Given the description of an element on the screen output the (x, y) to click on. 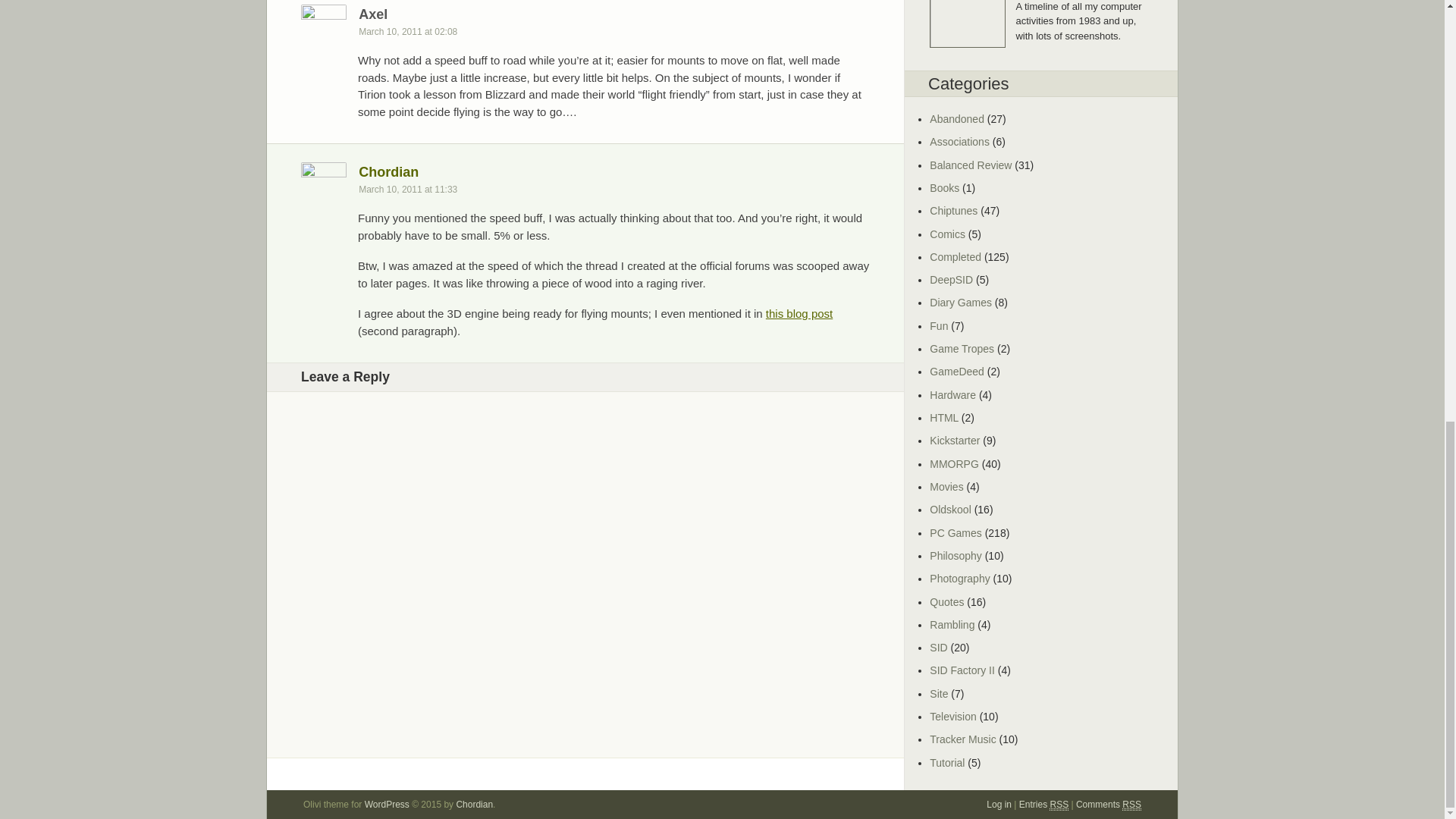
Associations (960, 141)
Balanced Review (970, 164)
Syndicate this site using RSS (1043, 804)
Comics (947, 234)
this blog post (798, 313)
Really Simple Syndication (1058, 804)
The latest comments to all posts in RSS (1108, 804)
March 10, 2011 at 02:08 (411, 31)
Completed (955, 256)
Books (944, 187)
